Given the description of an element on the screen output the (x, y) to click on. 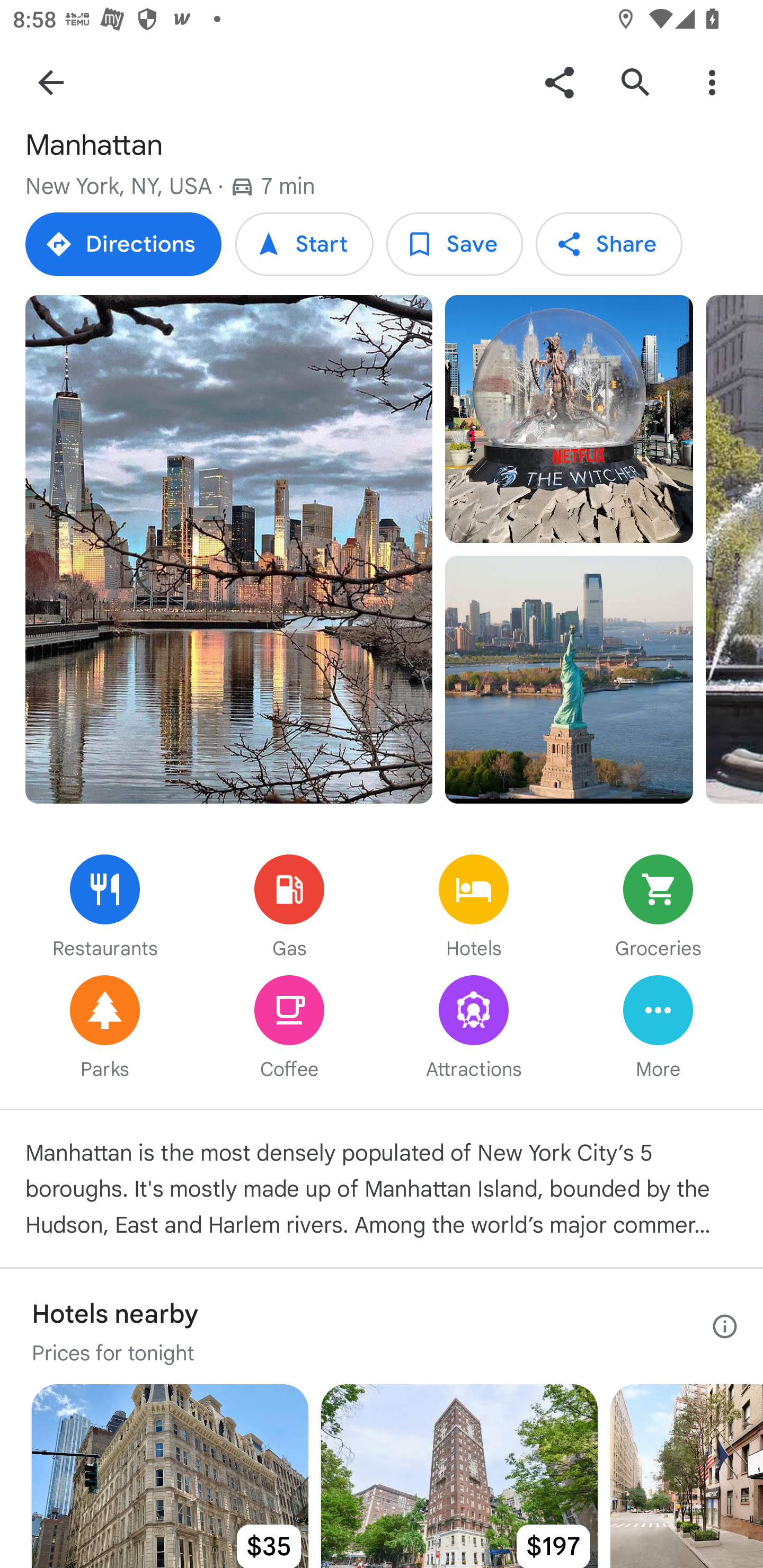
Back to Search (50, 81)
Share (559, 81)
Search (635, 81)
More options for Manhattan (711, 81)
Start Start Start (304, 243)
Share Manhattan Share Share Manhattan (608, 243)
Photo (228, 548)
Photo (568, 418)
Photo (568, 678)
Re-center map to your location (702, 888)
Restaurants (104, 908)
Gas (288, 908)
Hotels (473, 908)
Groceries (658, 908)
Parks (104, 1029)
Coffee (288, 1029)
Attractions (473, 1029)
More (658, 1029)
About hotel pricing (724, 1326)
$35 (170, 1476)
$197 (459, 1476)
